Given the description of an element on the screen output the (x, y) to click on. 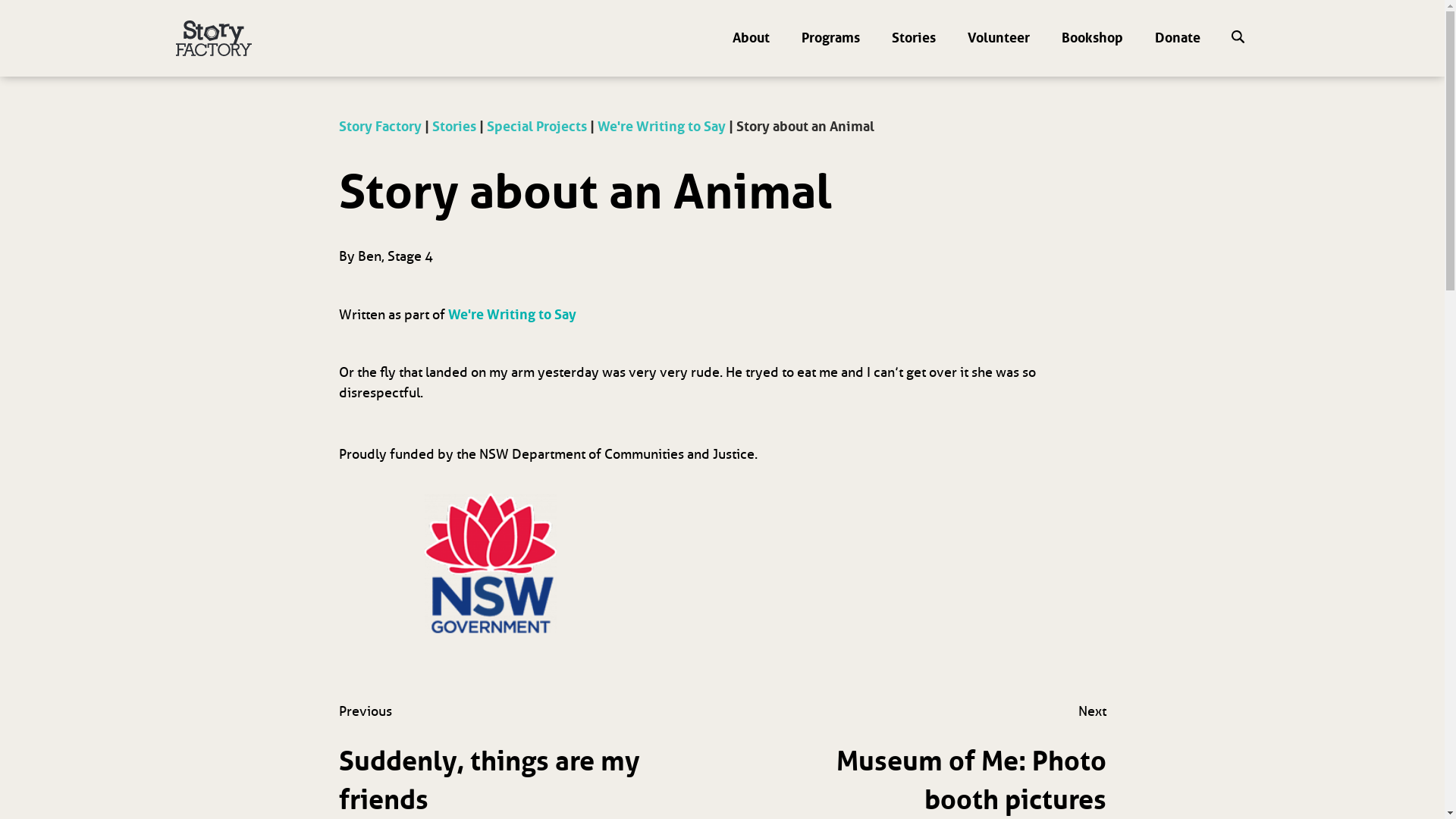
About Element type: text (750, 38)
Bookshop Element type: text (1092, 38)
Story Factory Element type: text (379, 126)
Volunteer Element type: text (998, 38)
Programs Element type: text (830, 38)
Open Search Element type: hover (1237, 38)
Donate Element type: text (1177, 38)
Special Projects Element type: text (536, 126)
Stories Element type: text (913, 38)
We're Writing to Say Element type: text (661, 126)
We're Writing to Say Element type: text (511, 314)
Stories Element type: text (454, 126)
